Given the description of an element on the screen output the (x, y) to click on. 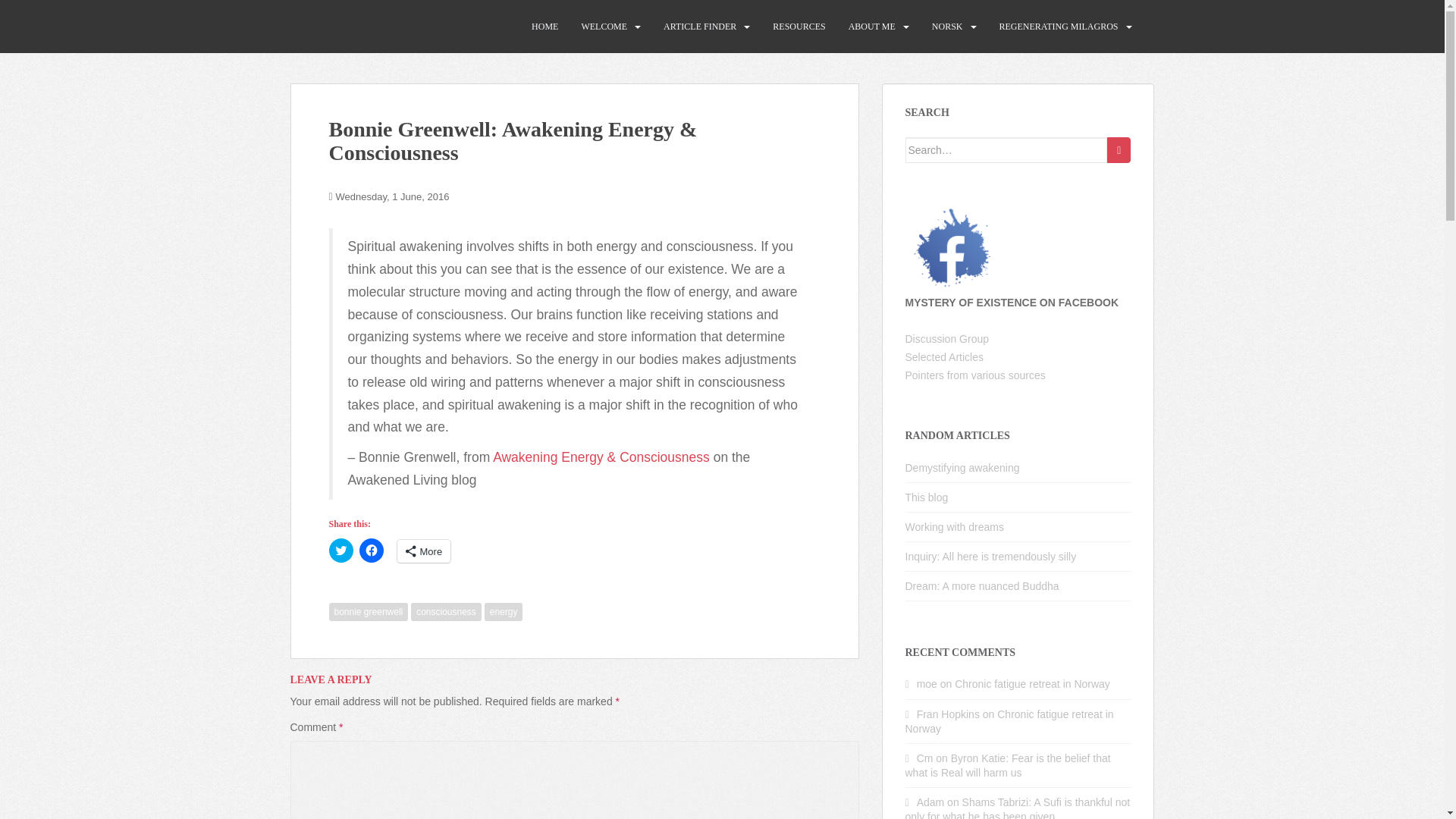
Mystery of Existence (368, 26)
Mystery of Existence (368, 26)
Wednesday, 1 June, 2016 (392, 196)
bonnie greenwell (369, 611)
NORSK (946, 26)
ARTICLE FINDER (699, 26)
consciousness (445, 611)
More (424, 550)
WELCOME (603, 26)
Search for: (1006, 149)
Click to share on Twitter (341, 550)
REGENERATING MILAGROS (1058, 26)
RESOURCES (799, 26)
Click to share on Facebook (371, 550)
energy (503, 611)
